Given the description of an element on the screen output the (x, y) to click on. 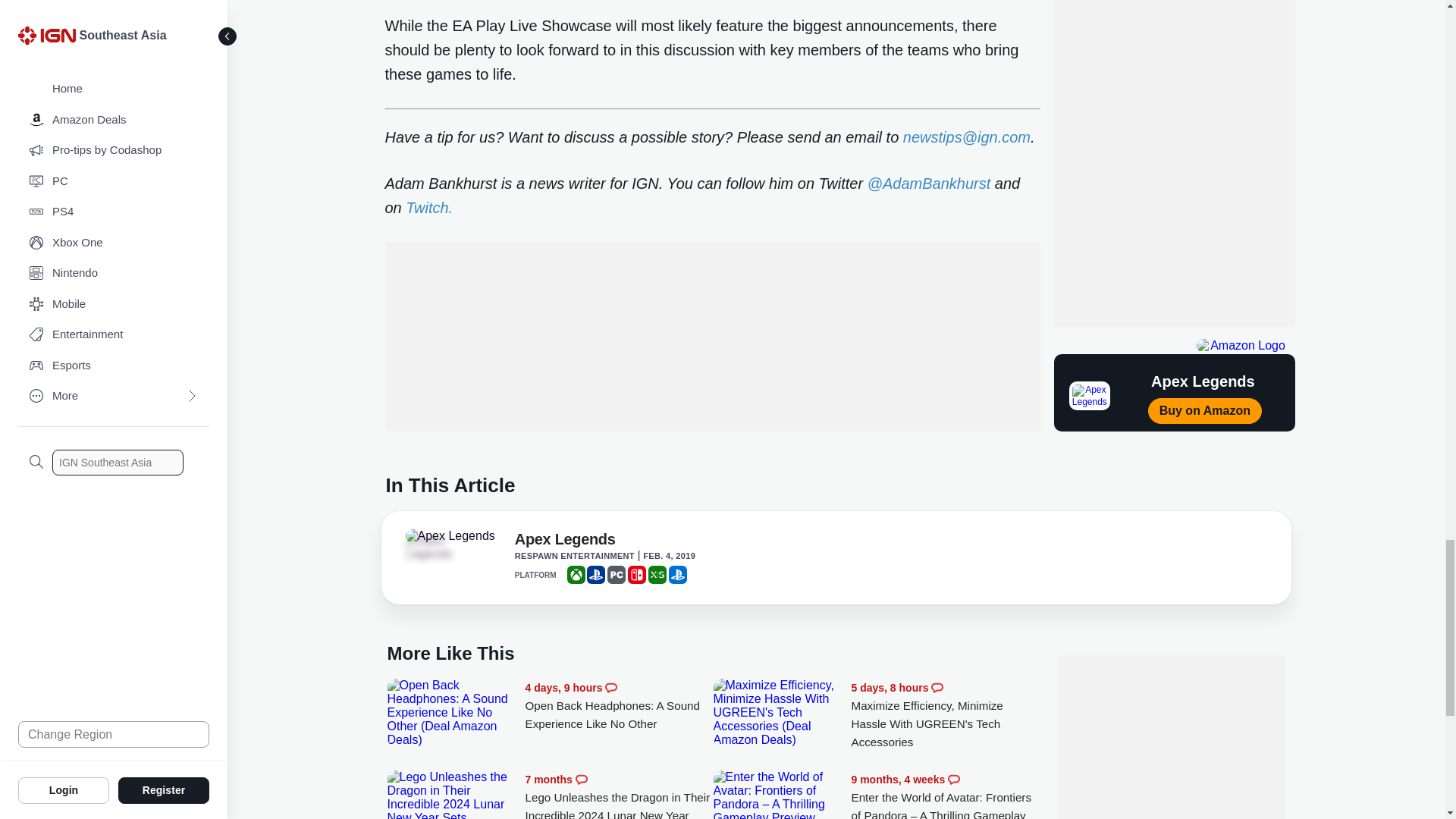
XBOXONE (576, 574)
PC (616, 574)
Open Back Headphones: A Sound Experience Like No Other (451, 712)
Apex Legends (565, 541)
Open Back Headphones: A Sound Experience Like No Other (618, 705)
Apex Legends (449, 535)
Apex Legends (448, 547)
PS4 (595, 574)
